Given the description of an element on the screen output the (x, y) to click on. 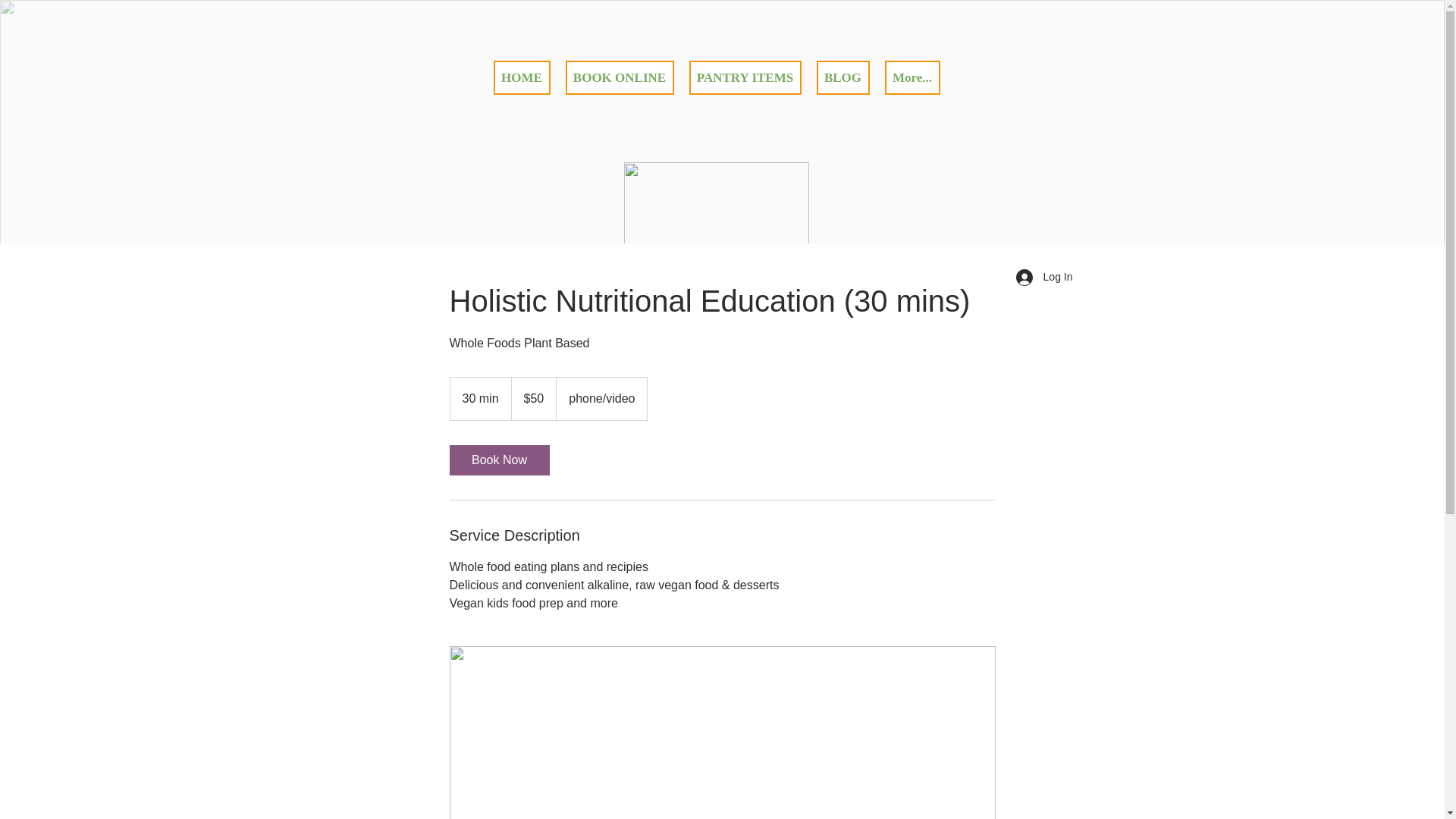
HOME Element type: text (520, 77)
Book Now Element type: text (498, 460)
11Hy Holistic logo.jpg Element type: hover (715, 233)
BOOK ONLINE Element type: text (619, 77)
PANTRY ITEMS Element type: text (744, 77)
BLOG Element type: text (842, 77)
Log In Element type: text (1044, 277)
